Given the description of an element on the screen output the (x, y) to click on. 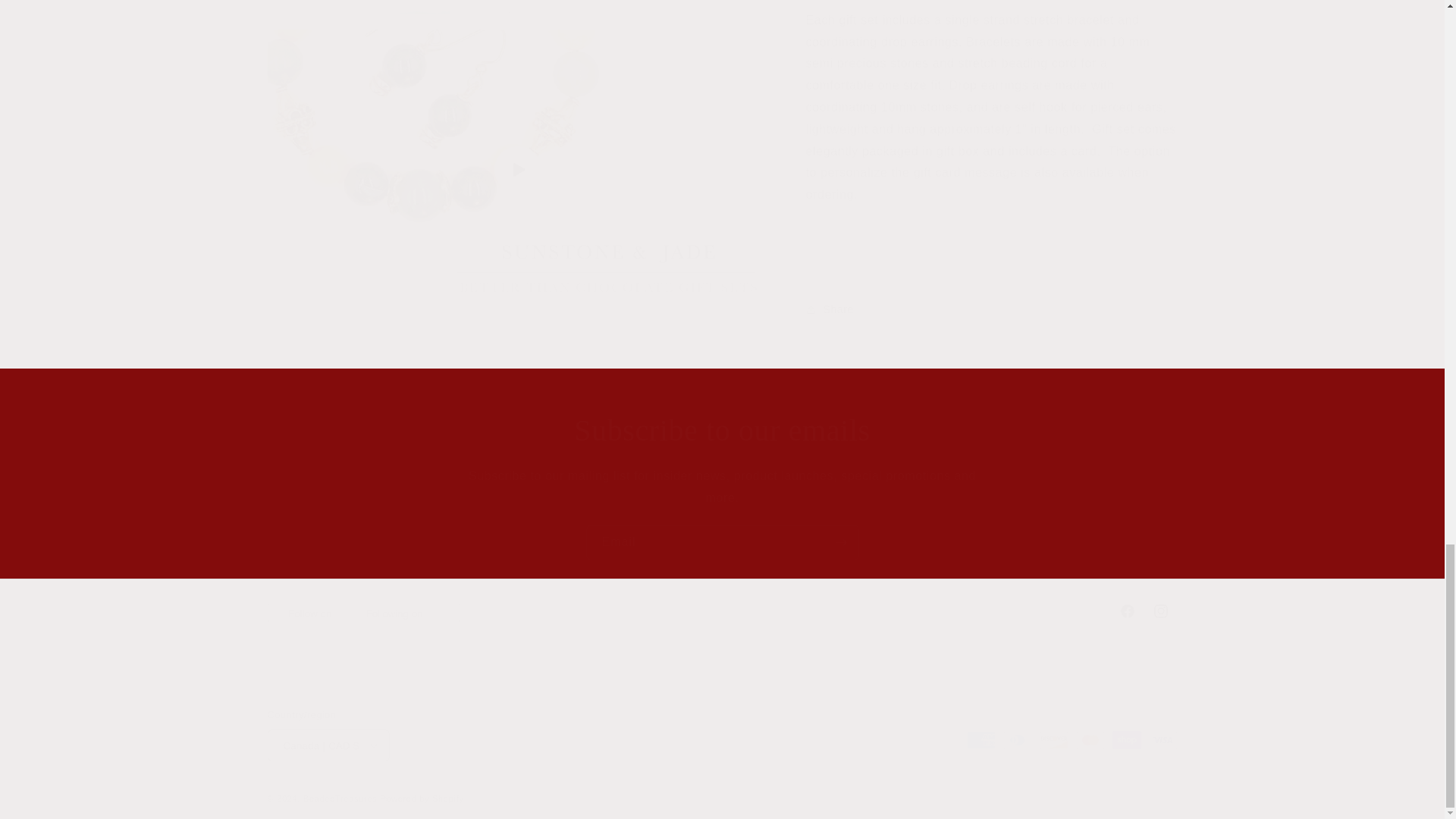
Play video (721, 611)
Subscribe to our emails (722, 542)
